Given the description of an element on the screen output the (x, y) to click on. 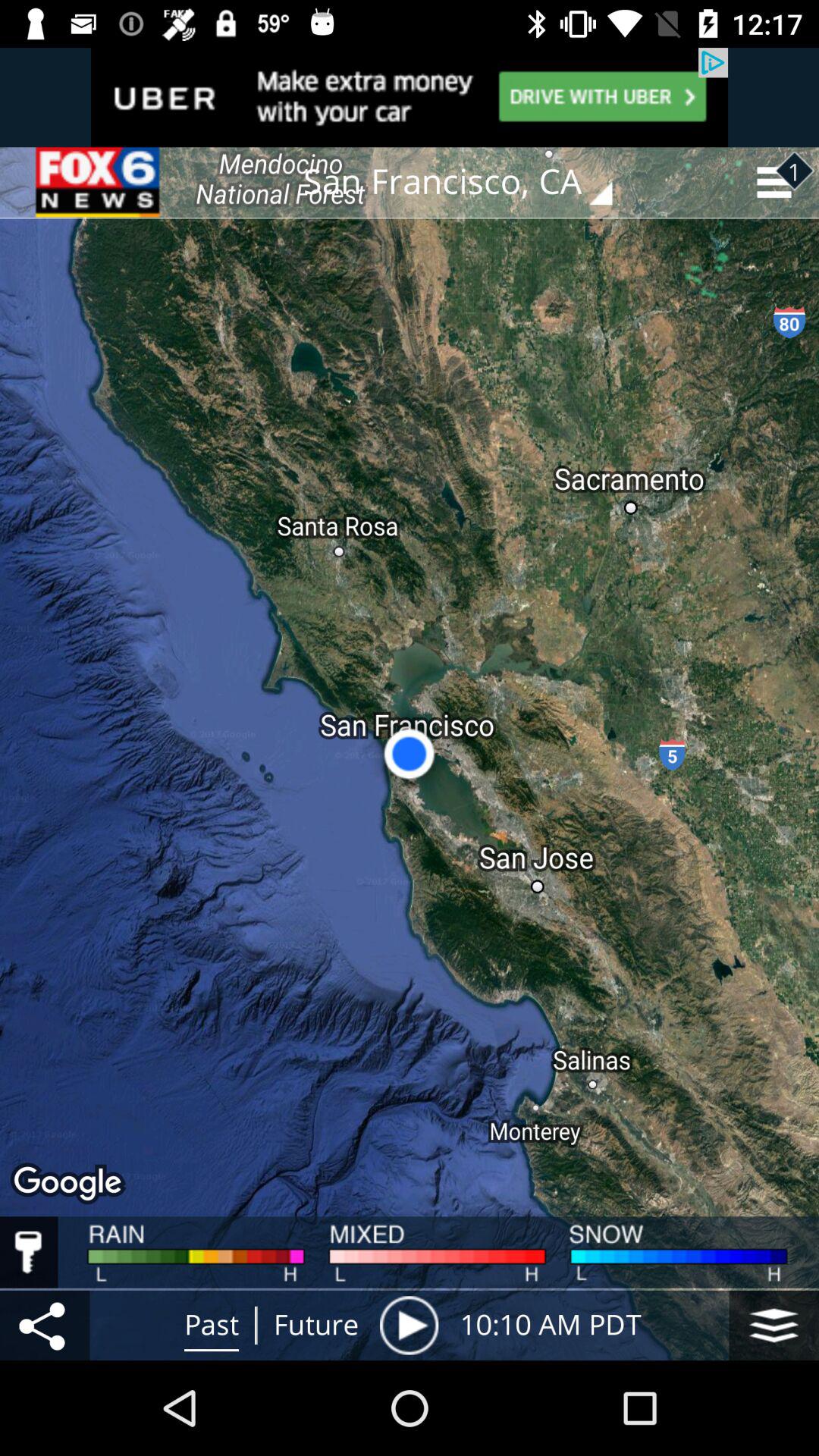
launch the icon next to past icon (44, 1325)
